Given the description of an element on the screen output the (x, y) to click on. 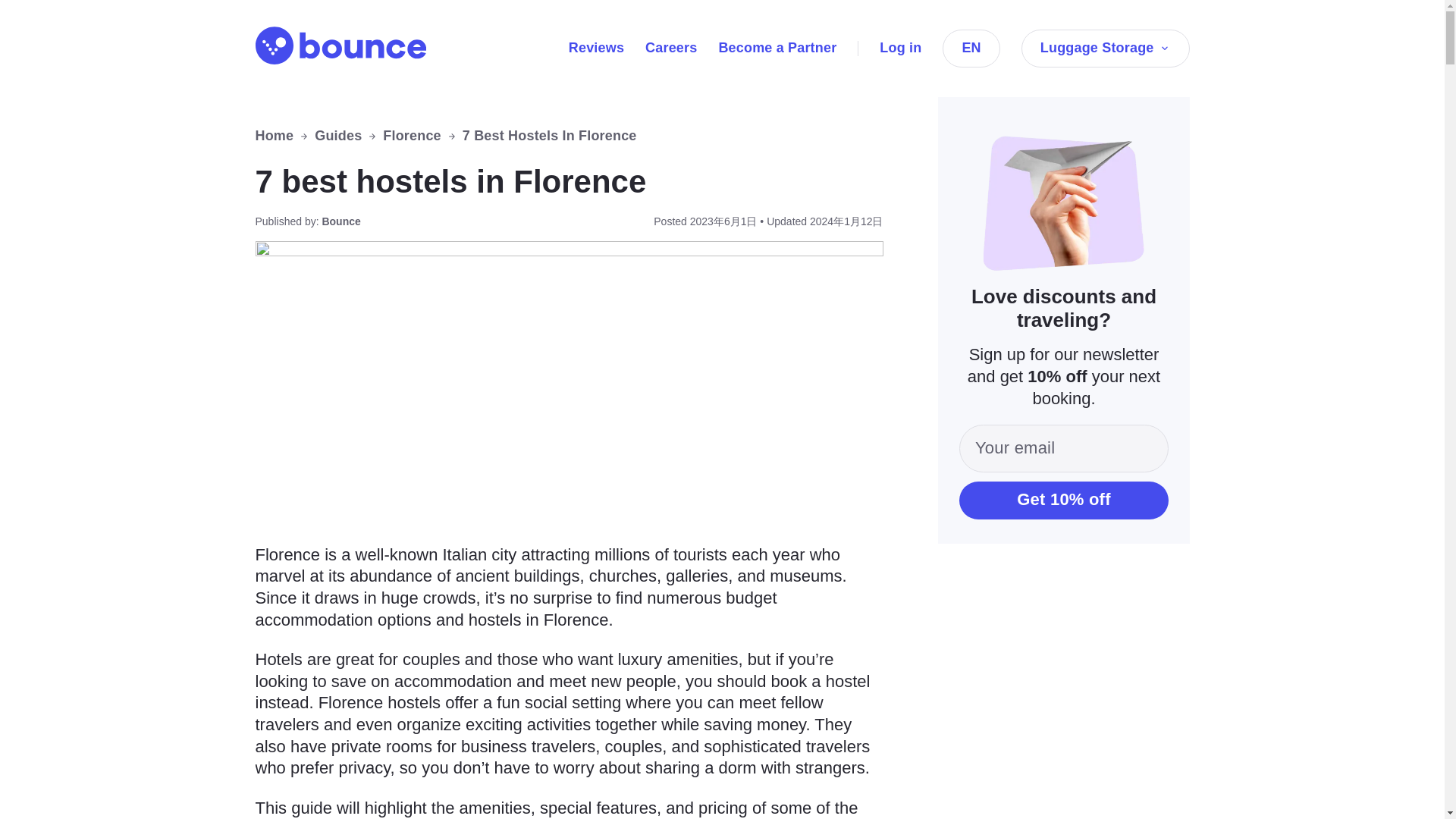
Become a Partner (776, 47)
Florence (411, 135)
Careers (671, 47)
Luggage Storage (1105, 48)
Home (274, 135)
Log in (900, 47)
EN (970, 48)
Bounce (339, 45)
Reviews (596, 47)
Guides (337, 135)
